Given the description of an element on the screen output the (x, y) to click on. 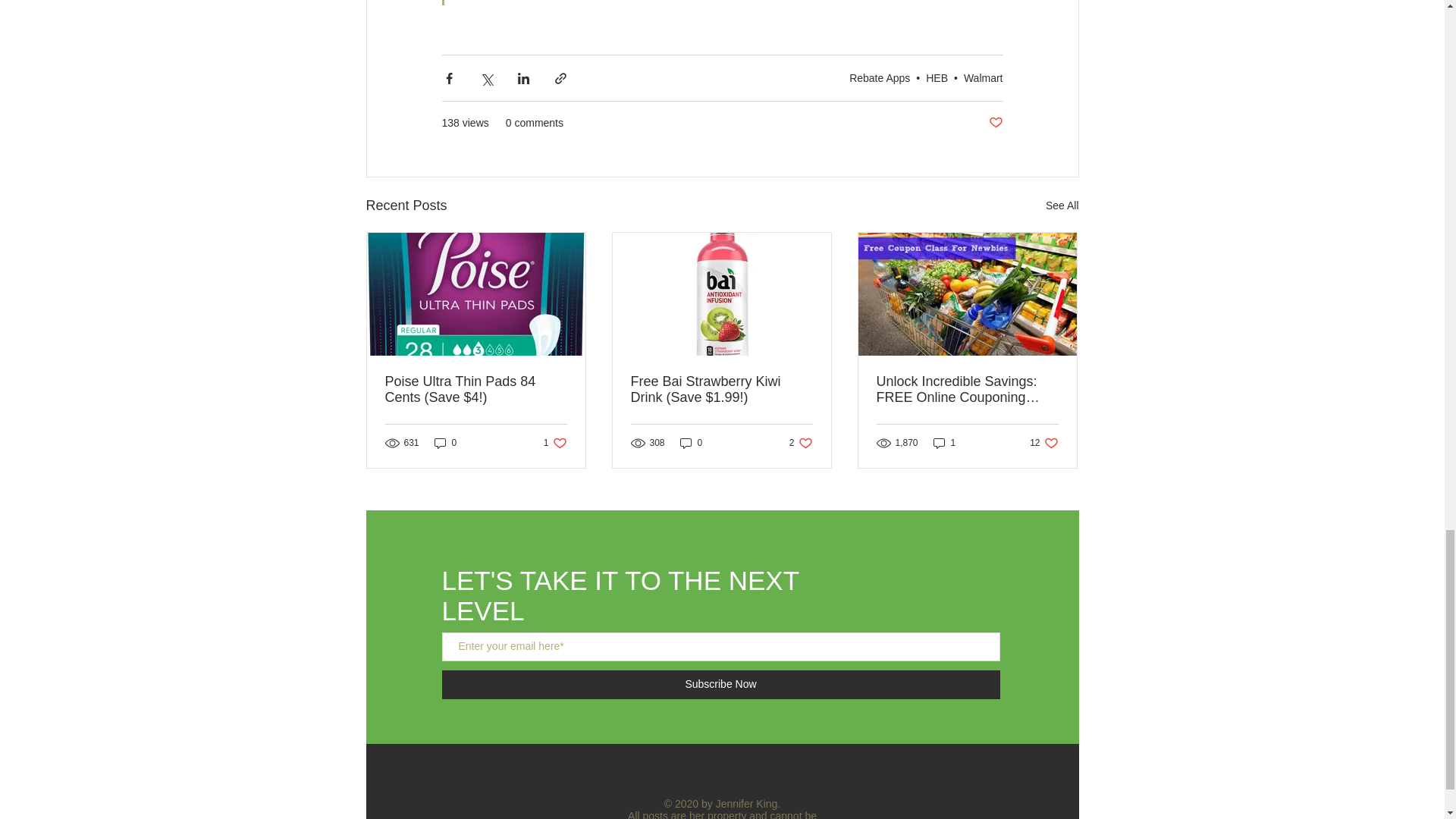
Post not marked as liked (995, 123)
HEB (555, 441)
See All (936, 77)
0 (1061, 205)
Walmart (445, 441)
Rebate Apps (983, 77)
